Given the description of an element on the screen output the (x, y) to click on. 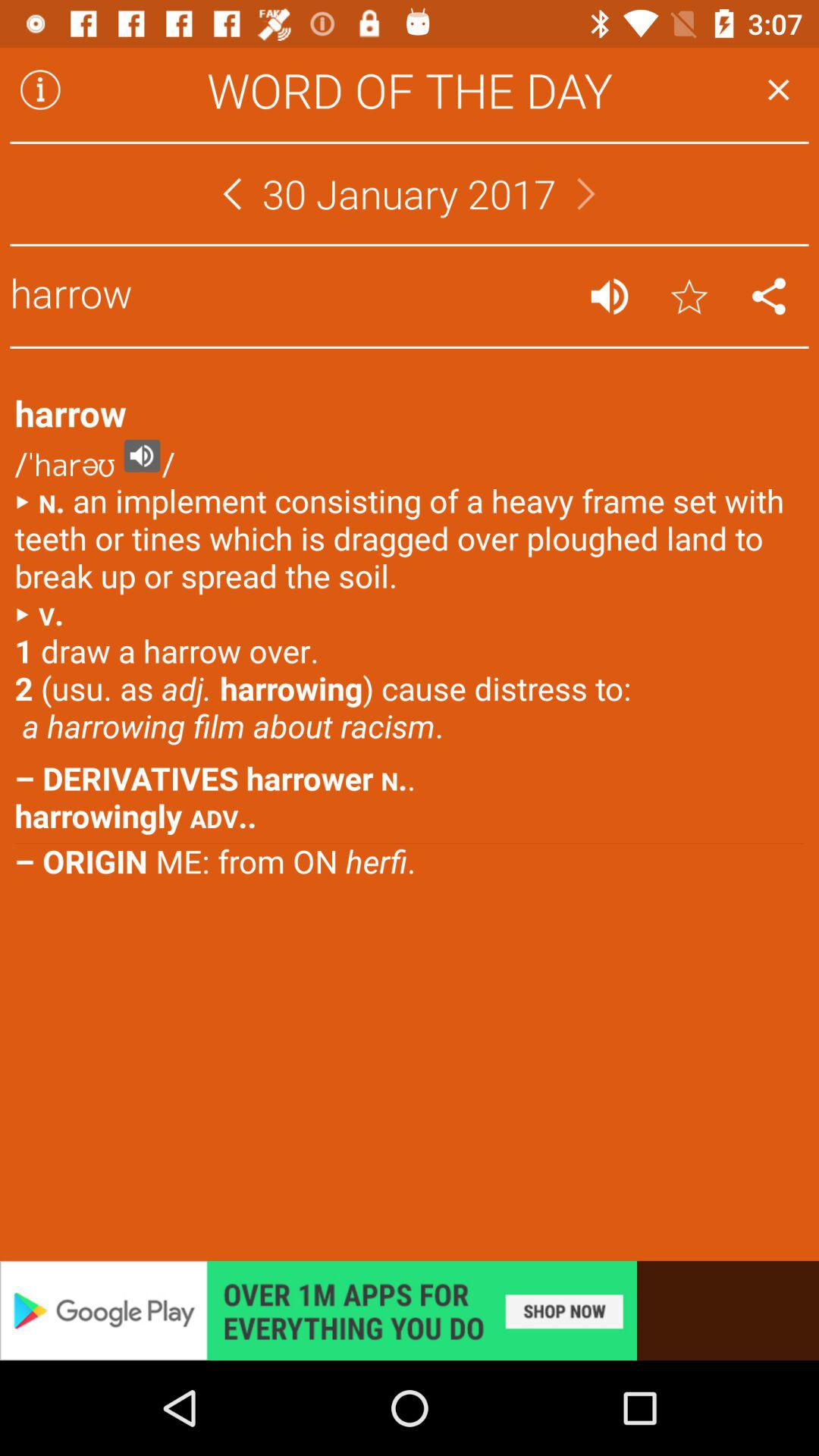
displays information (40, 89)
